Given the description of an element on the screen output the (x, y) to click on. 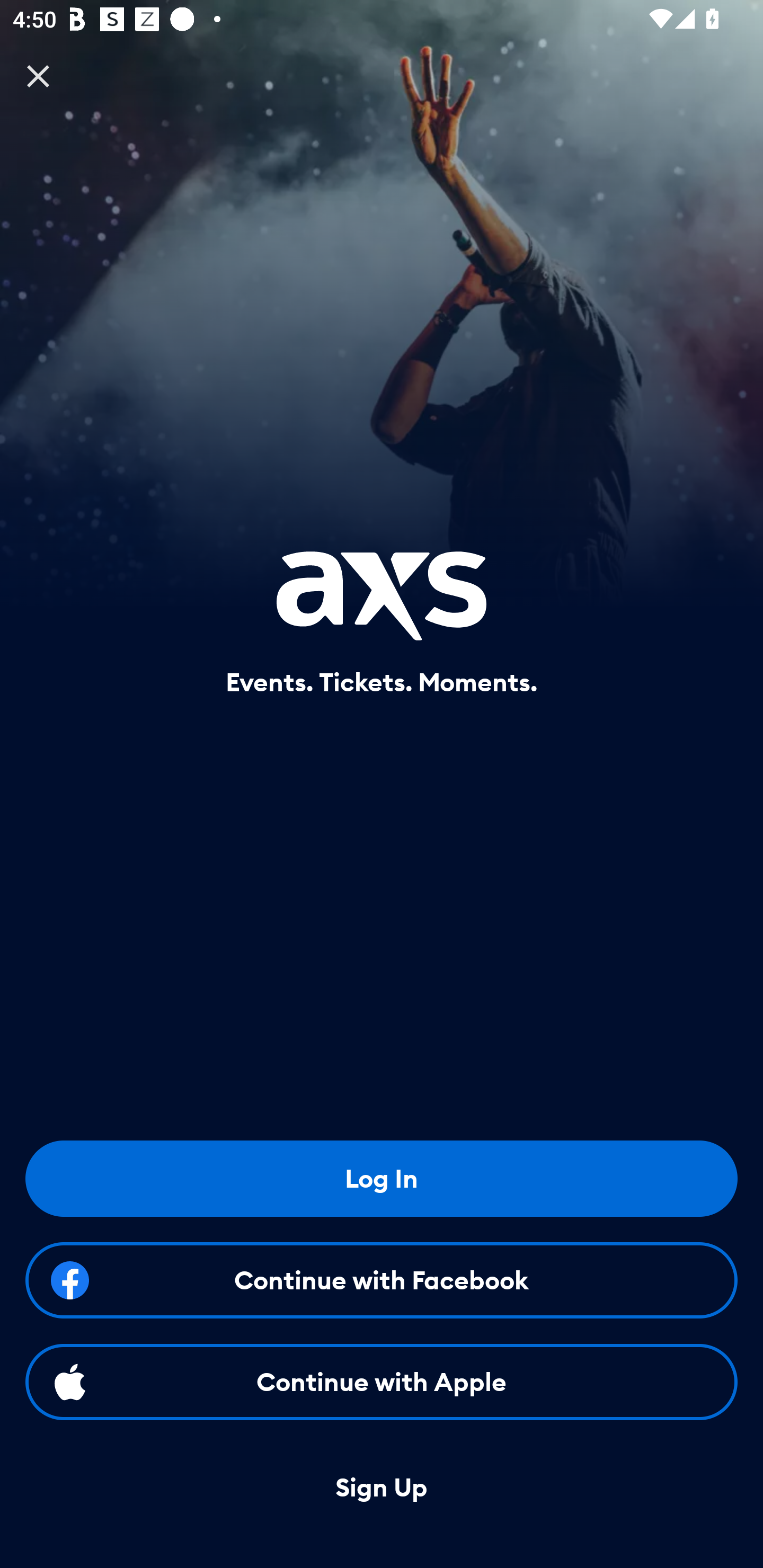
Log In (381, 1177)
Continue with Facebook (381, 1279)
Continue with Apple (381, 1381)
Sign Up (381, 1487)
